Given the description of an element on the screen output the (x, y) to click on. 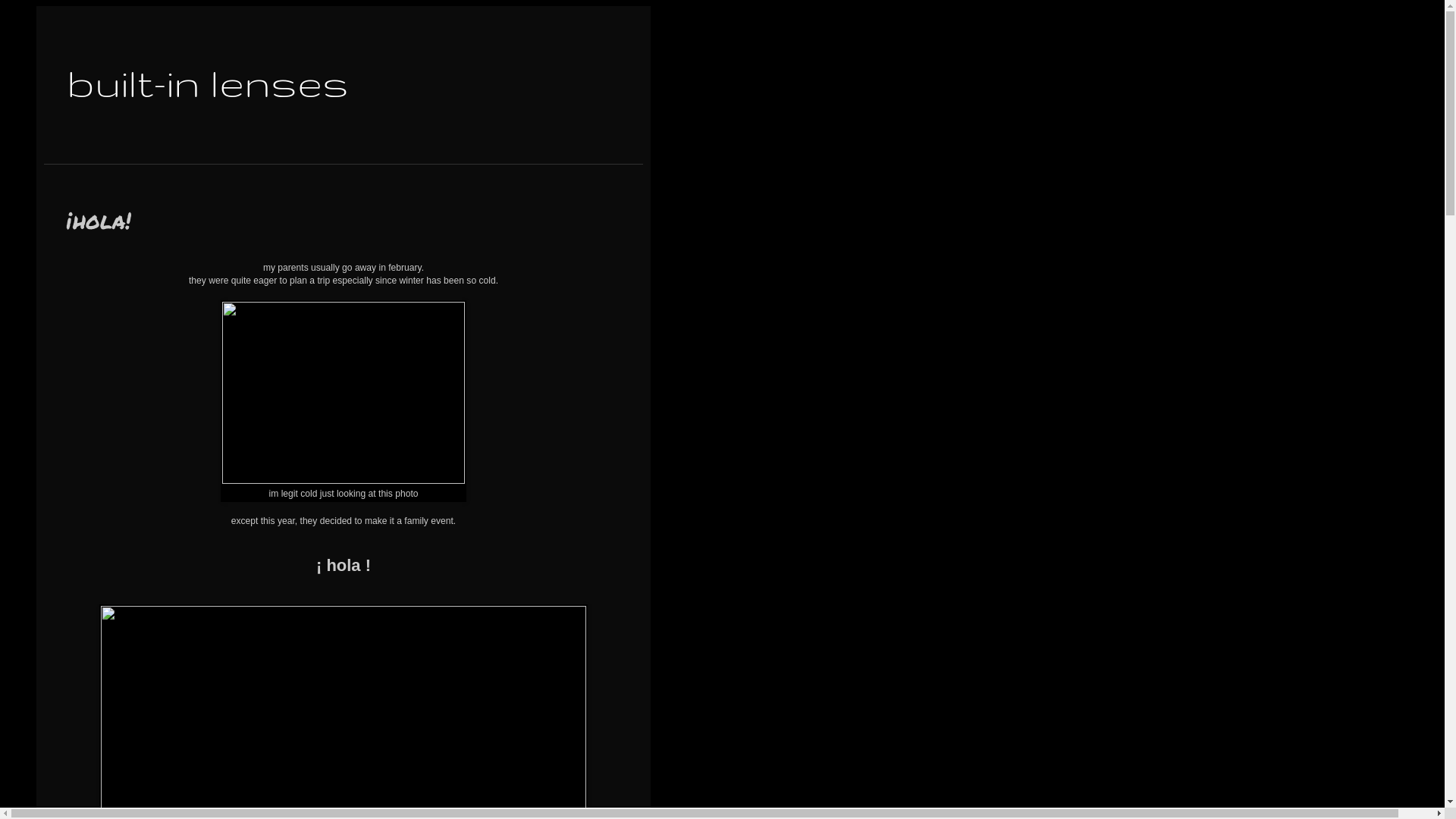
built-in lenses Element type: text (207, 82)
